Given the description of an element on the screen output the (x, y) to click on. 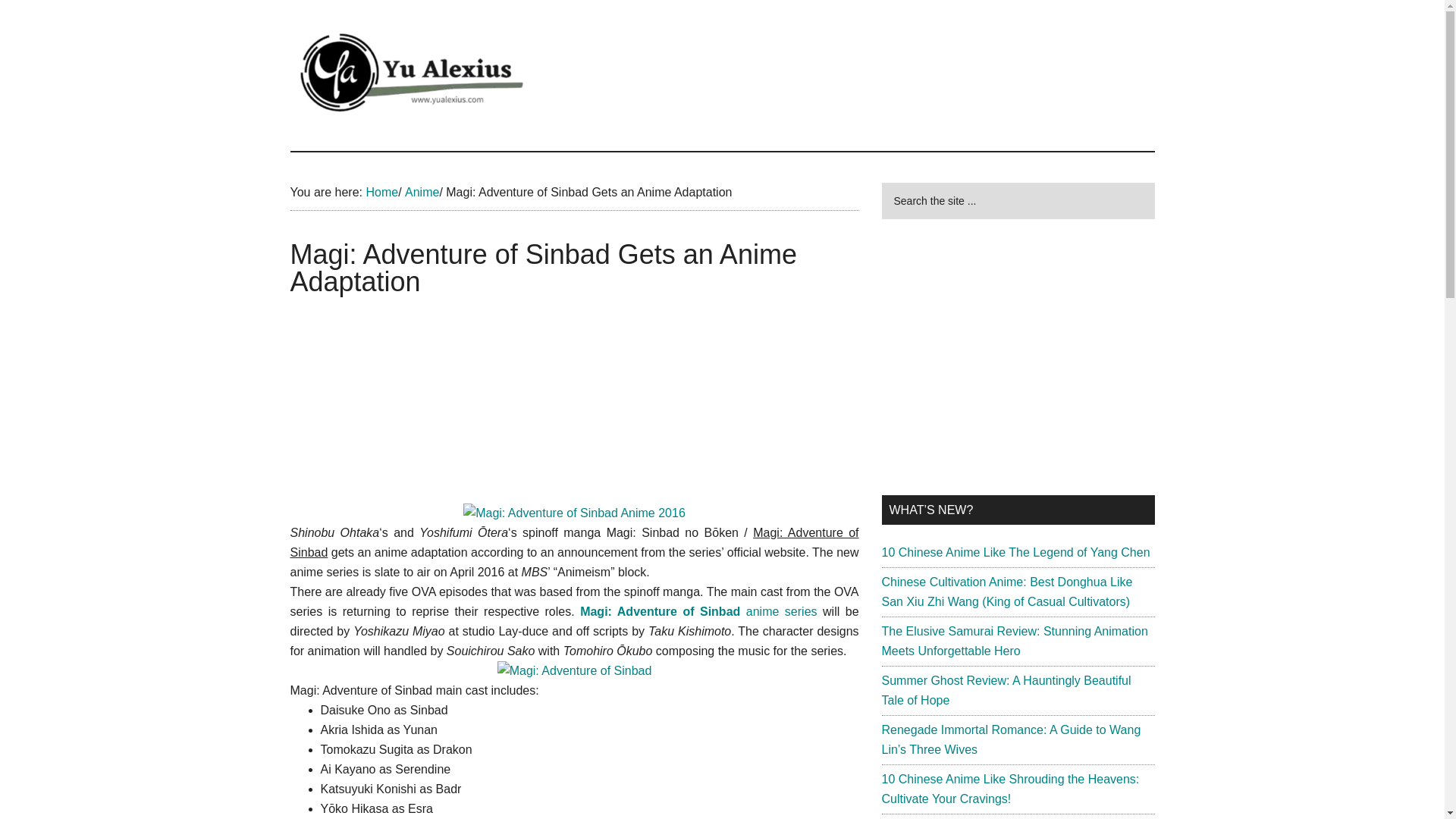
Summer Ghost Review: A Hauntingly Beautiful Tale of Hope (1005, 690)
10 Chinese Anime Like The Legend of Yang Chen (1015, 552)
Magi: Adventure of Sinbad (574, 670)
Magi: Adventure of Sinbad Anime 2016 (574, 513)
Home (381, 192)
Magi: Adventure of Sinbad anime series (700, 611)
Anime (421, 192)
